Given the description of an element on the screen output the (x, y) to click on. 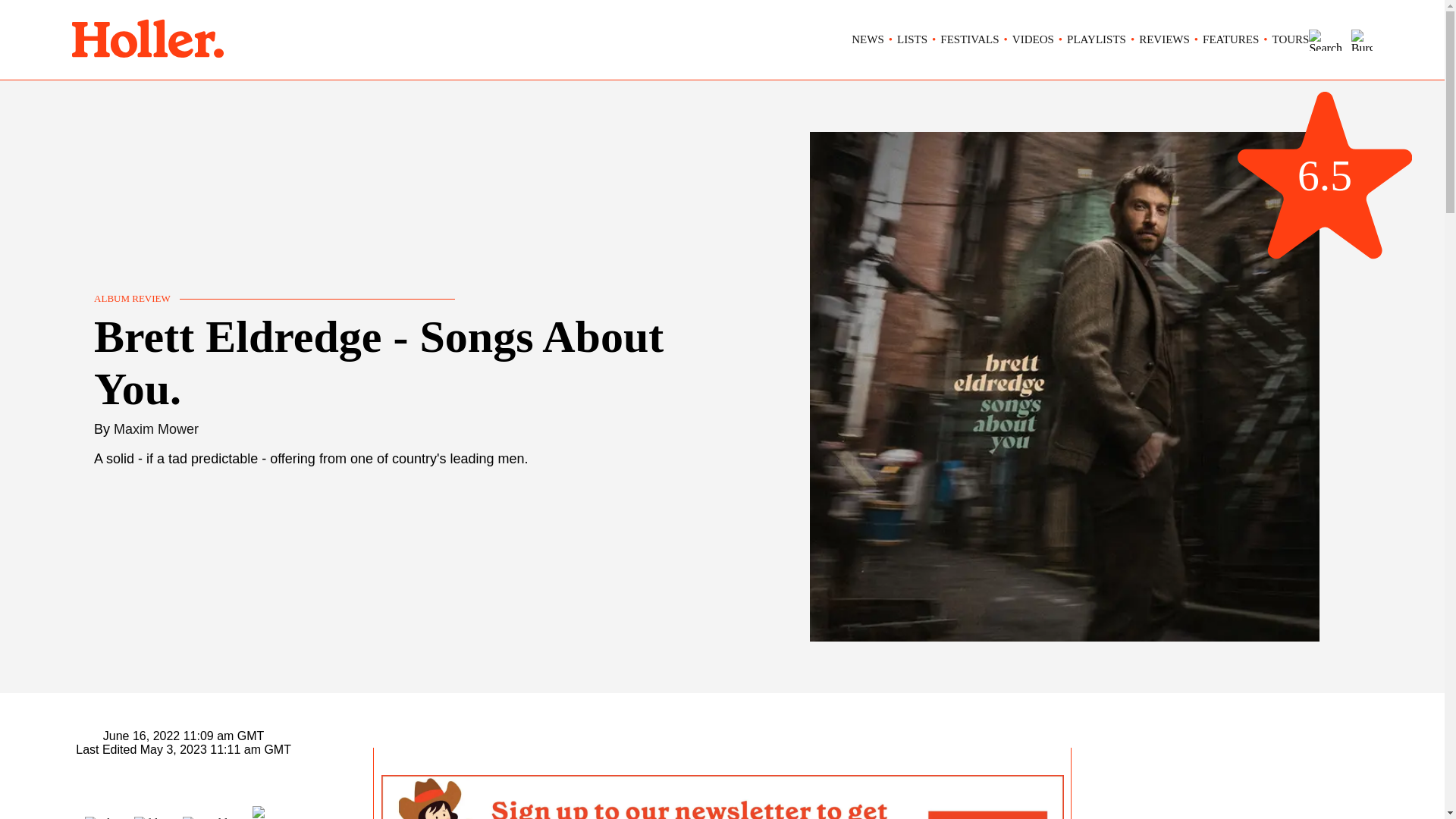
FEATURES (1230, 39)
REVIEWS (1163, 39)
Maxim Mower (155, 428)
FESTIVALS (969, 39)
LISTS (911, 39)
NEWS (867, 39)
VIDEOS (1032, 39)
TOURS (1290, 39)
PLAYLISTS (1096, 39)
